Given the description of an element on the screen output the (x, y) to click on. 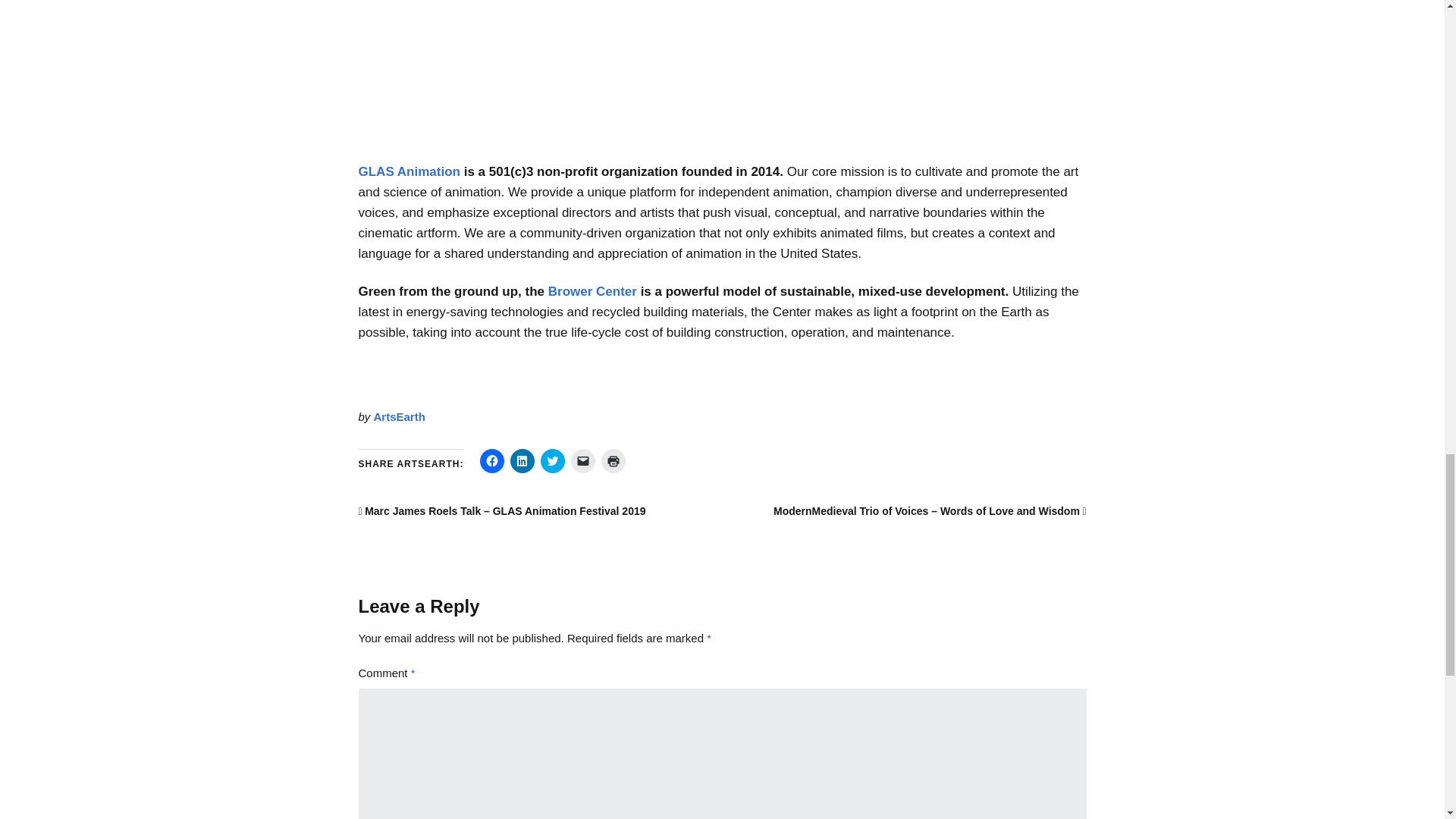
ArtsEarth (399, 416)
Click to share on Twitter (552, 460)
Click to share on LinkedIn (522, 460)
Click to share on Facebook (491, 460)
Click to print (613, 460)
GLAS Animation (409, 171)
Click to email a link to a friend (582, 460)
Brower Center (592, 291)
